Given the description of an element on the screen output the (x, y) to click on. 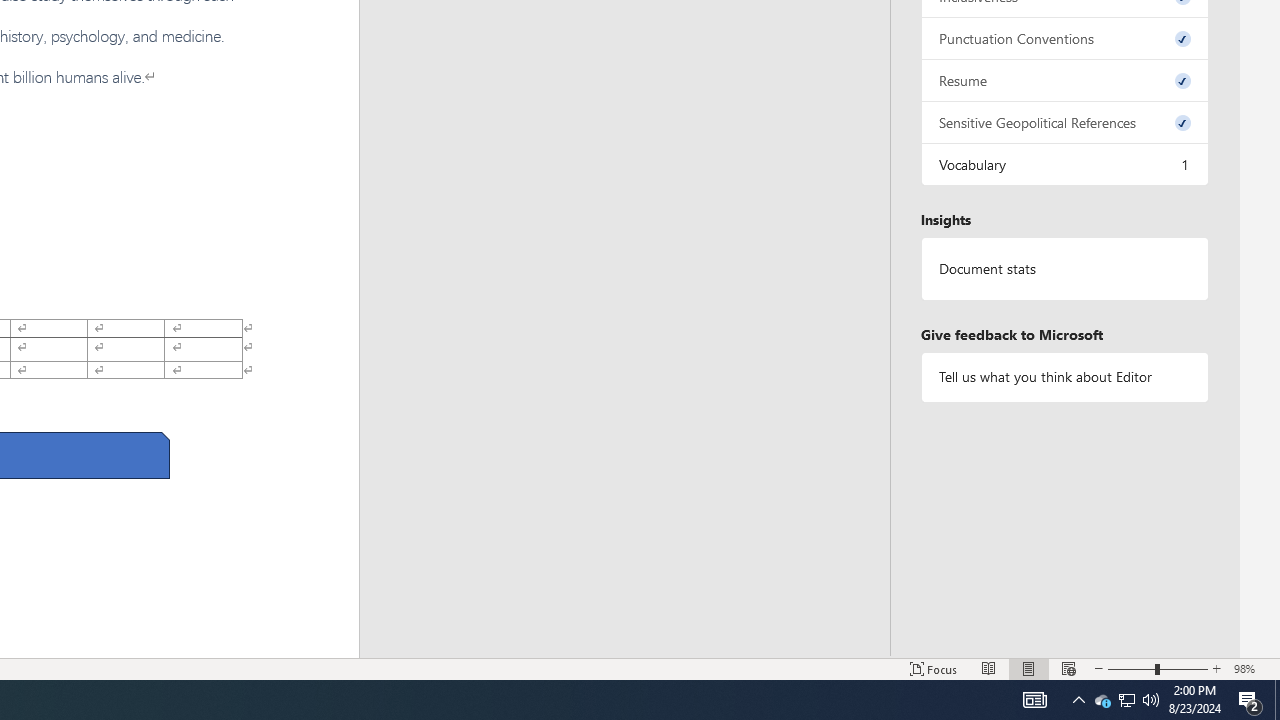
Tell us what you think about Editor (1064, 376)
Document statistics (1064, 269)
Resume, 0 issues. Press space or enter to review items. (1064, 79)
Vocabulary, 1 issue. Press space or enter to review items. (1064, 164)
